Given the description of an element on the screen output the (x, y) to click on. 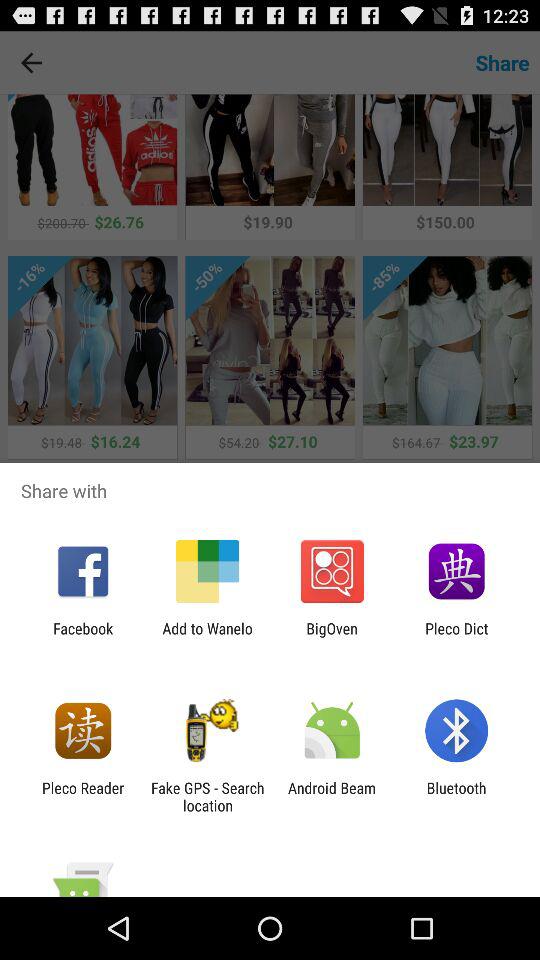
turn off the bigoven icon (331, 637)
